Given the description of an element on the screen output the (x, y) to click on. 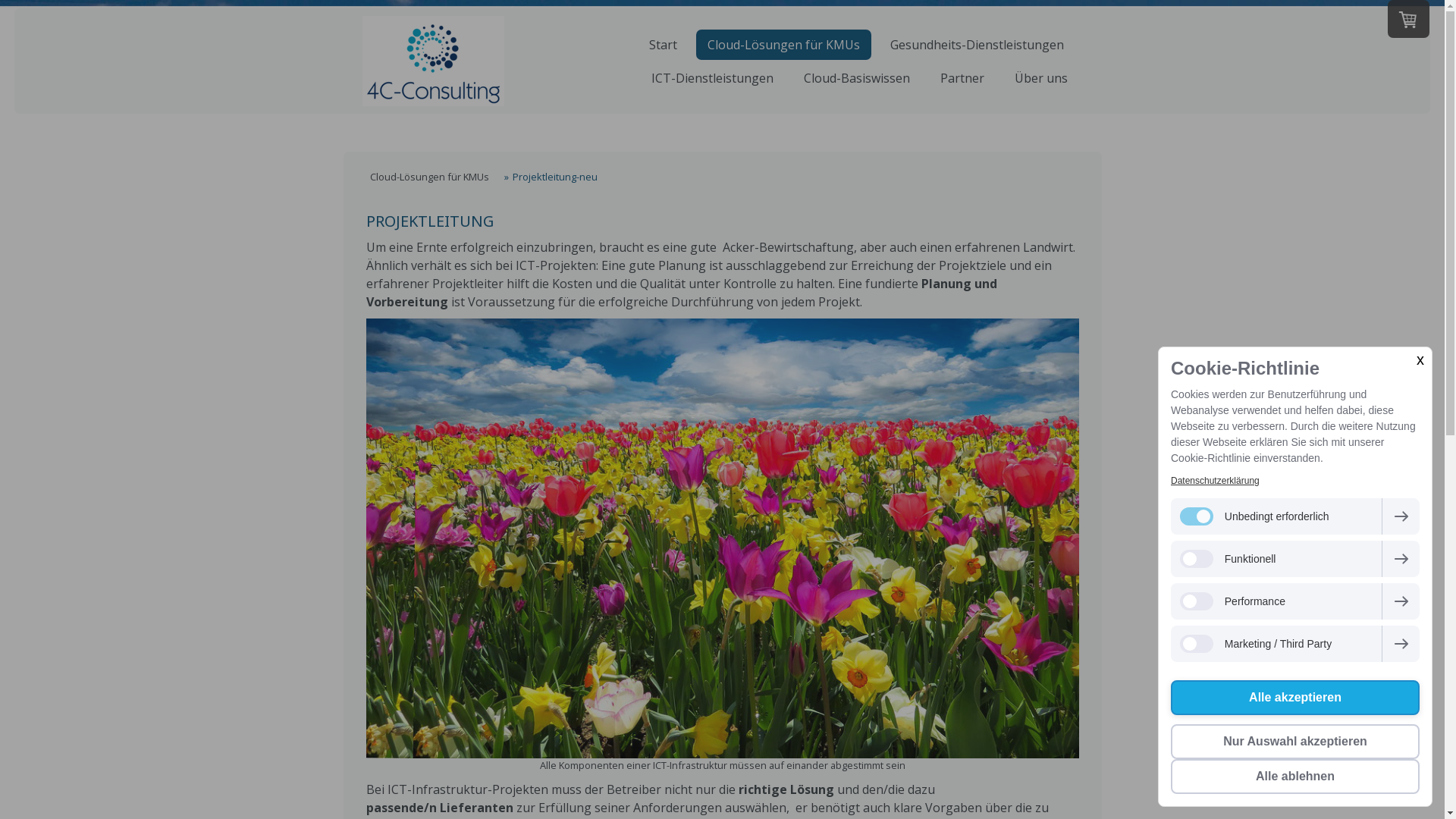
Cloud-Basiswissen Element type: text (855, 77)
Partner Element type: text (961, 77)
Alle akzeptieren Element type: text (1294, 697)
Nur Auswahl akzeptieren Element type: text (1294, 741)
Start Element type: text (662, 44)
Alle ablehnen Element type: text (1294, 776)
Projektleitung-neu Element type: text (550, 176)
Gesundheits-Dienstleistungen Element type: text (976, 44)
ICT-Dienstleistungen Element type: text (712, 77)
